Given the description of an element on the screen output the (x, y) to click on. 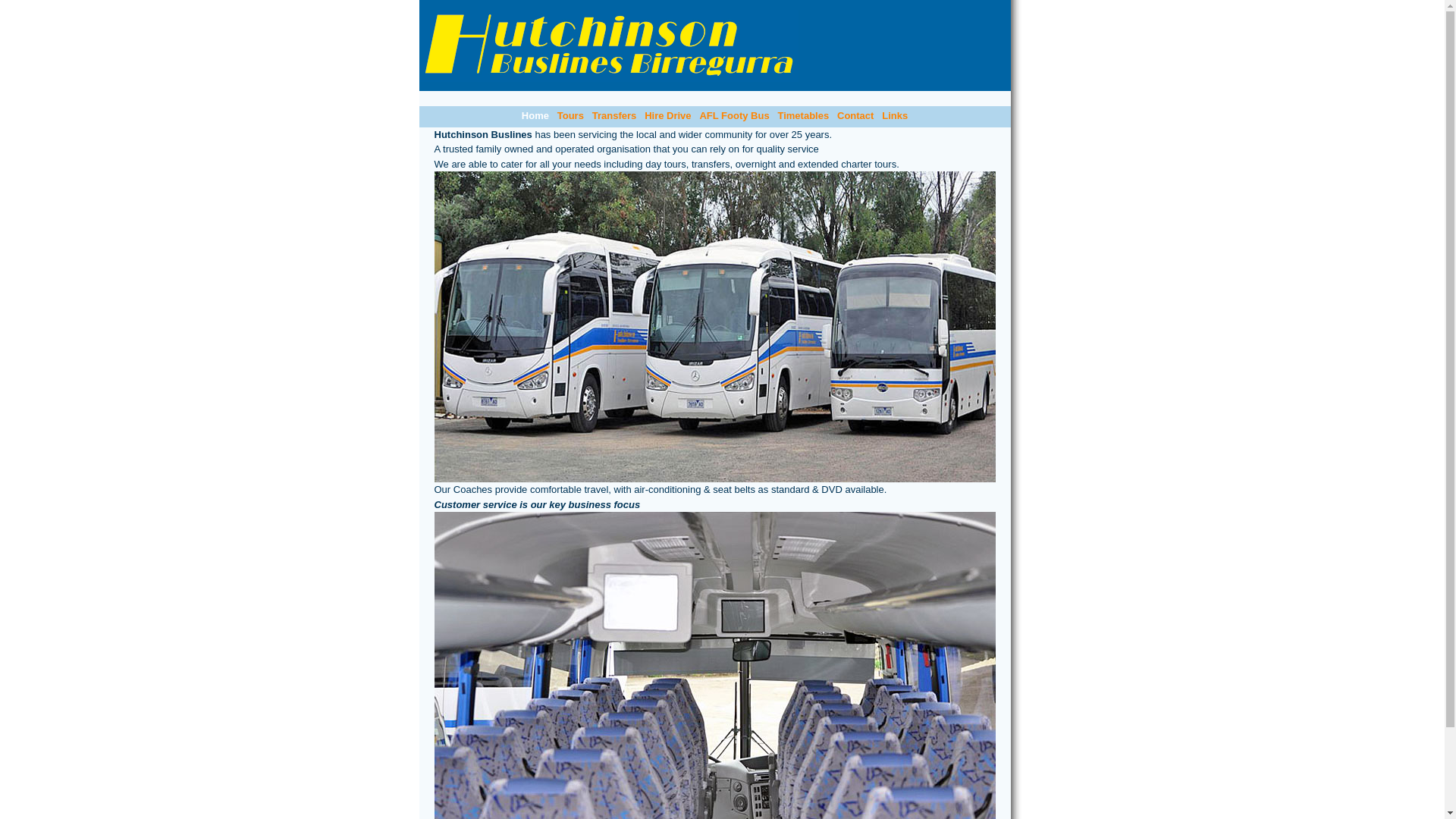
Links Element type: text (894, 115)
AFL Footy Bus Element type: text (733, 115)
Timetables Element type: text (802, 115)
Transfers Element type: text (614, 115)
Contact Element type: text (855, 115)
Hire Drive Element type: text (667, 115)
Tours Element type: text (570, 115)
